Given the description of an element on the screen output the (x, y) to click on. 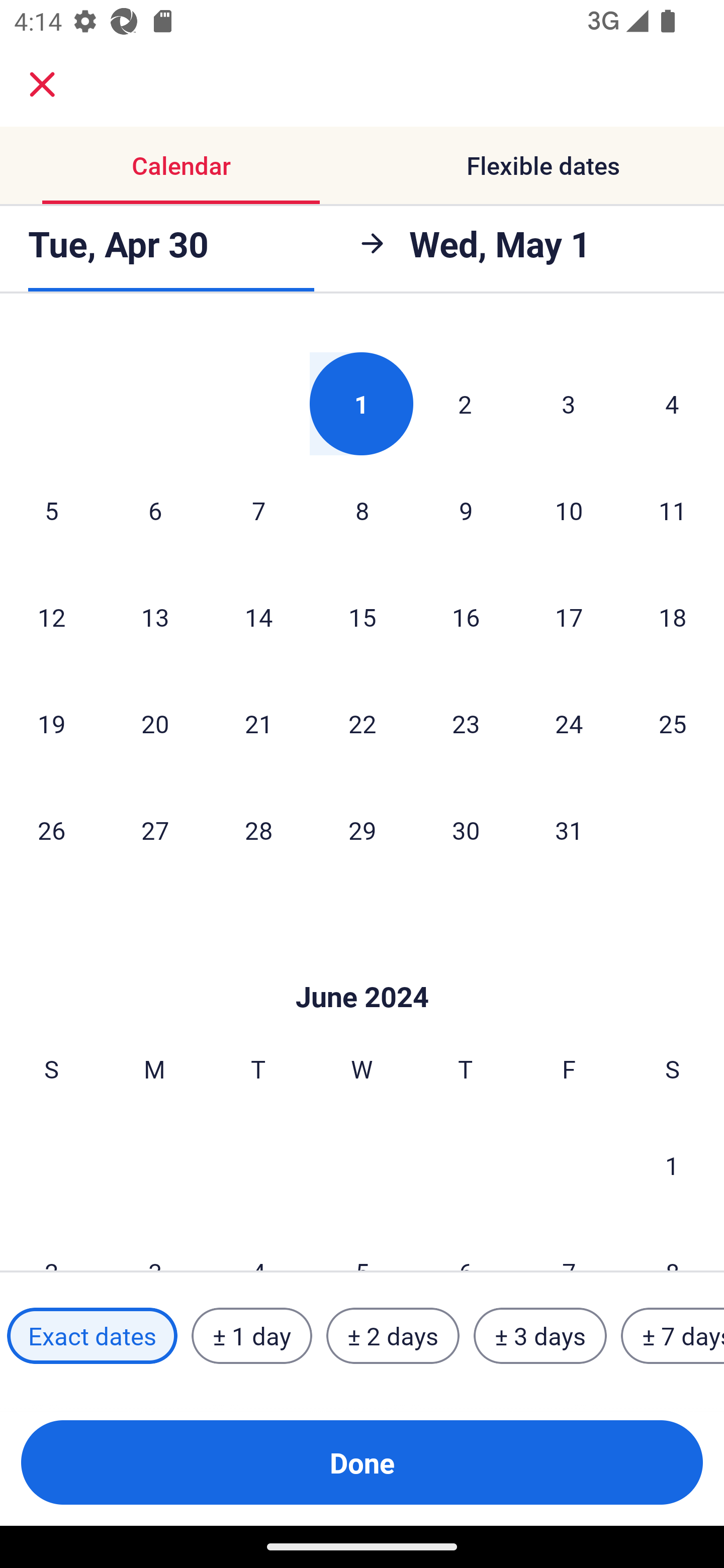
close. (42, 84)
Flexible dates (542, 164)
2 Thursday, May 2, 2024 (464, 403)
3 Friday, May 3, 2024 (568, 403)
4 Saturday, May 4, 2024 (672, 403)
5 Sunday, May 5, 2024 (51, 510)
6 Monday, May 6, 2024 (155, 510)
7 Tuesday, May 7, 2024 (258, 510)
8 Wednesday, May 8, 2024 (362, 510)
9 Thursday, May 9, 2024 (465, 510)
10 Friday, May 10, 2024 (569, 510)
11 Saturday, May 11, 2024 (672, 510)
12 Sunday, May 12, 2024 (51, 616)
13 Monday, May 13, 2024 (155, 616)
14 Tuesday, May 14, 2024 (258, 616)
15 Wednesday, May 15, 2024 (362, 616)
16 Thursday, May 16, 2024 (465, 616)
17 Friday, May 17, 2024 (569, 616)
18 Saturday, May 18, 2024 (672, 616)
19 Sunday, May 19, 2024 (51, 723)
20 Monday, May 20, 2024 (155, 723)
21 Tuesday, May 21, 2024 (258, 723)
22 Wednesday, May 22, 2024 (362, 723)
23 Thursday, May 23, 2024 (465, 723)
24 Friday, May 24, 2024 (569, 723)
25 Saturday, May 25, 2024 (672, 723)
26 Sunday, May 26, 2024 (51, 829)
27 Monday, May 27, 2024 (155, 829)
28 Tuesday, May 28, 2024 (258, 829)
29 Wednesday, May 29, 2024 (362, 829)
30 Thursday, May 30, 2024 (465, 829)
31 Friday, May 31, 2024 (569, 829)
Skip to Done (362, 967)
1 Saturday, June 1, 2024 (672, 1164)
Exact dates (92, 1335)
± 1 day (251, 1335)
± 2 days (392, 1335)
± 3 days (539, 1335)
± 7 days (672, 1335)
Done (361, 1462)
